Given the description of an element on the screen output the (x, y) to click on. 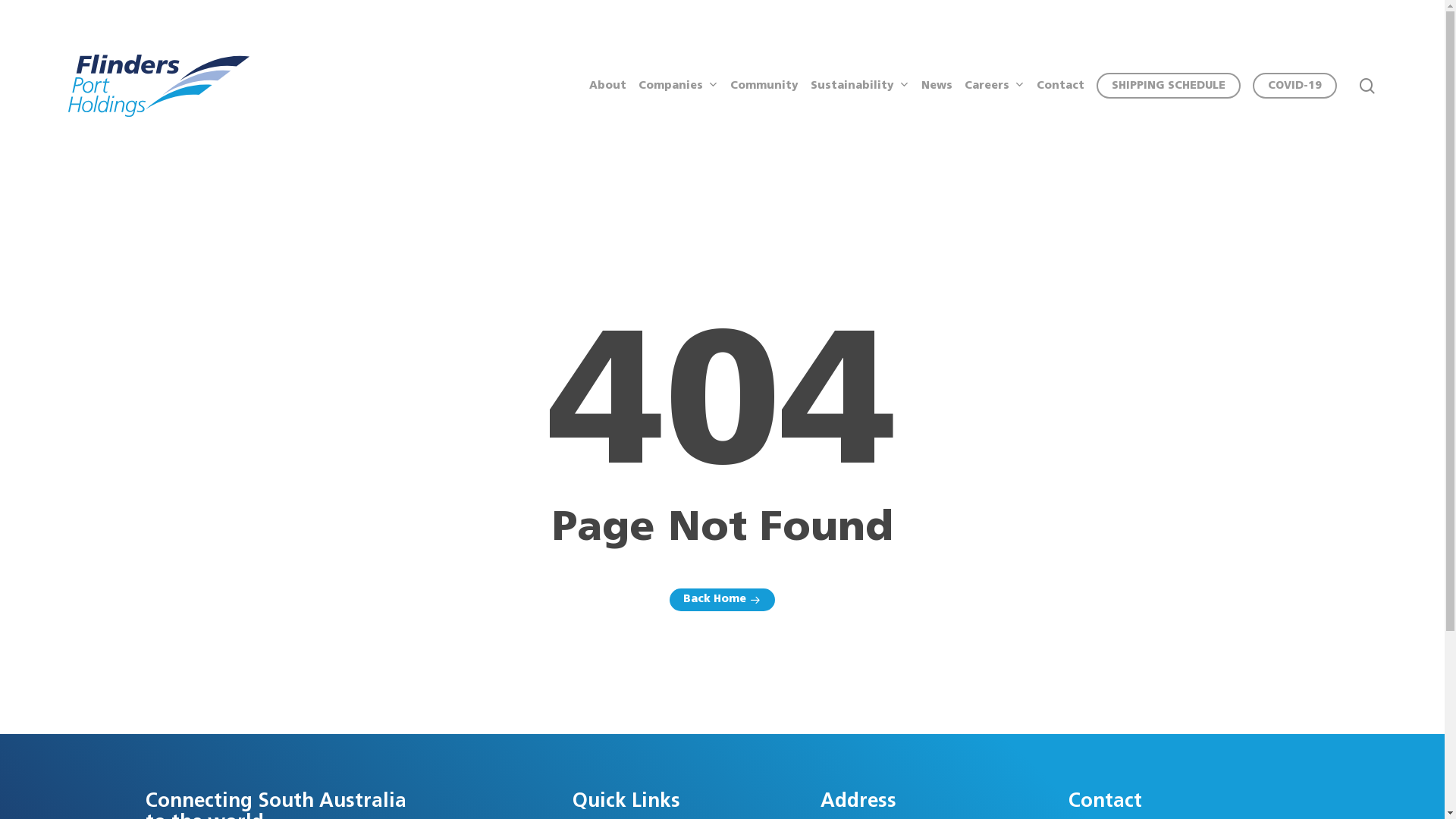
Companies Element type: text (678, 85)
Sustainability Element type: text (859, 85)
COVID-19 Element type: text (1294, 85)
Community Element type: text (764, 85)
About Element type: text (607, 85)
Back Home Element type: text (722, 599)
Contact Element type: text (1060, 85)
Careers Element type: text (994, 85)
SHIPPING SCHEDULE Element type: text (1168, 85)
search Element type: text (1367, 85)
News Element type: text (936, 85)
